Given the description of an element on the screen output the (x, y) to click on. 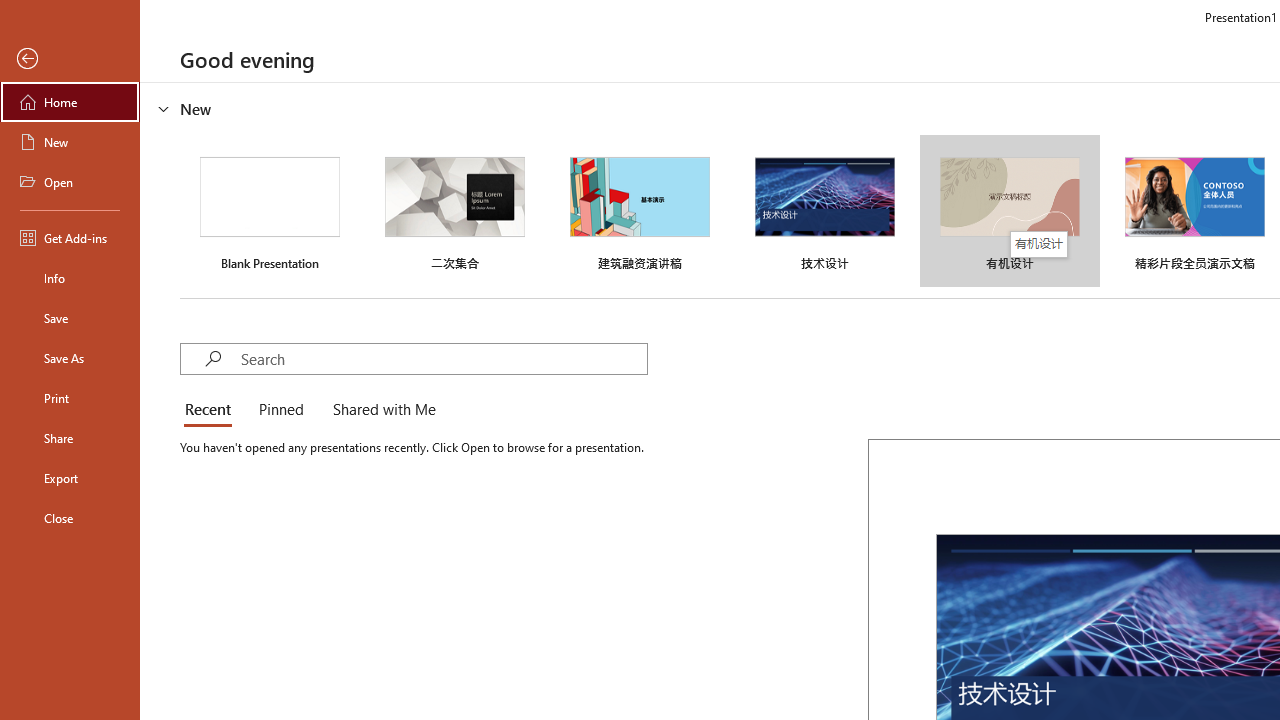
Get Add-ins (69, 237)
New (69, 141)
Recent (212, 410)
Export (69, 477)
Pinned (280, 410)
Save As (69, 357)
Hide or show region (164, 108)
Blank Presentation (269, 211)
Shared with Me (379, 410)
